Given the description of an element on the screen output the (x, y) to click on. 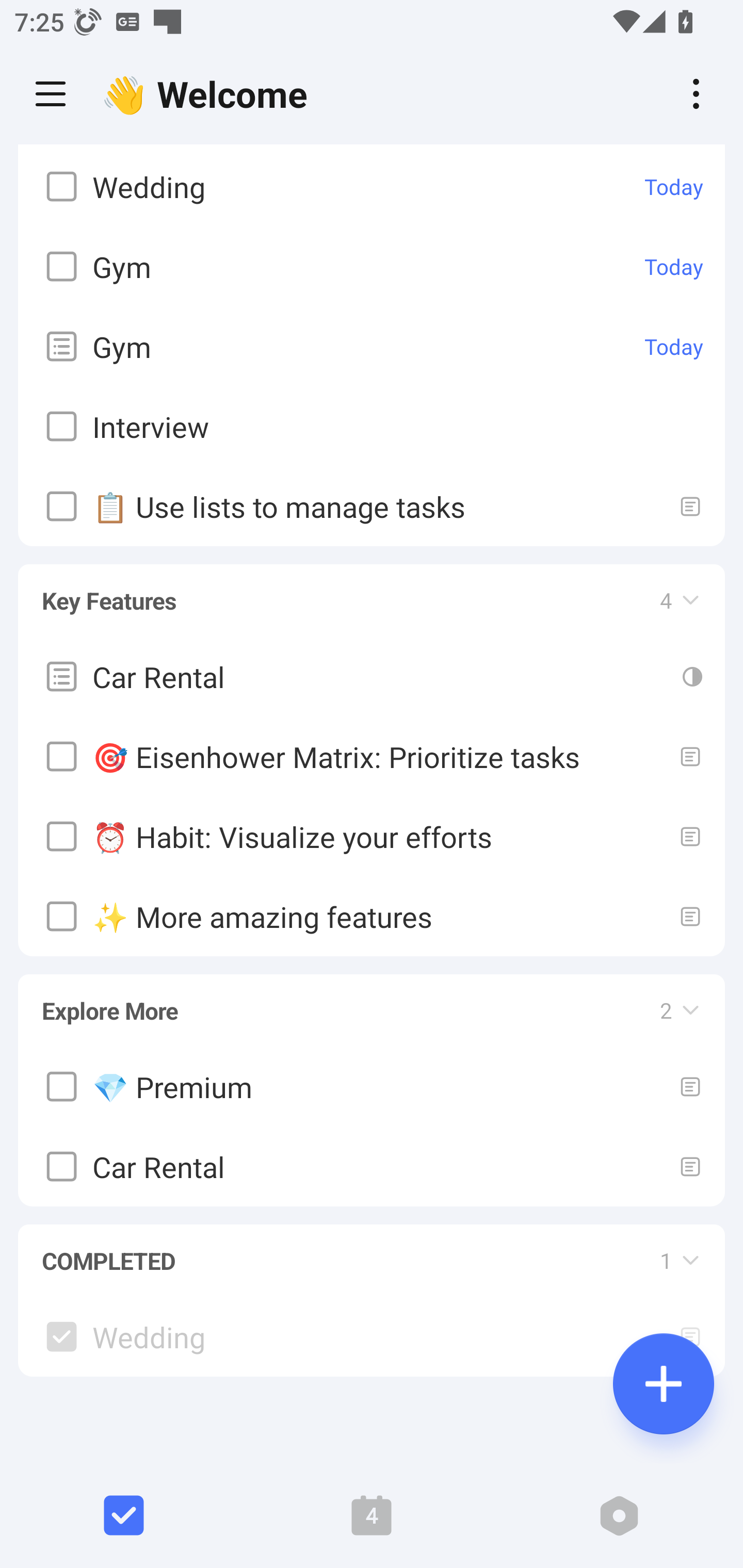
👋 Welcome (209, 93)
Wedding Today (371, 185)
Today (673, 186)
Gym Today (371, 265)
Today (673, 266)
Gym Today (371, 345)
Today (673, 346)
Interview (371, 425)
📋 Use lists to manage tasks (371, 505)
Key Features 4 (371, 590)
Car Rental (371, 676)
🎯 Eisenhower Matrix: Prioritize tasks (371, 756)
⏰ Habit: Visualize your efforts (371, 836)
✨ More amazing features (371, 916)
Explore More 2 (371, 1000)
💎 Premium (371, 1085)
Car Rental (371, 1165)
COMPLETED 1 (371, 1250)
Wedding (371, 1336)
